Given the description of an element on the screen output the (x, y) to click on. 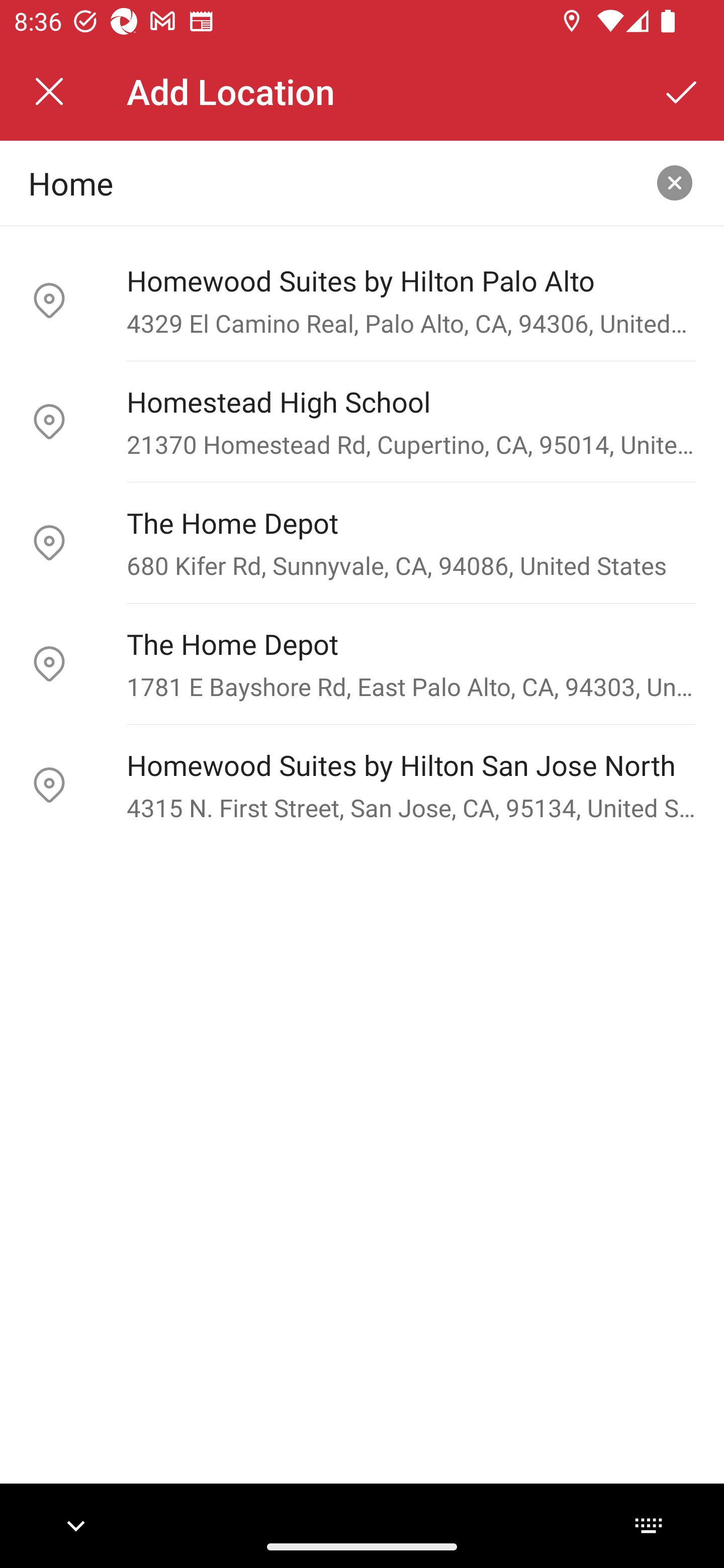
Close (49, 91)
Done (681, 91)
Clear location (674, 183)
Home (330, 182)
